Given the description of an element on the screen output the (x, y) to click on. 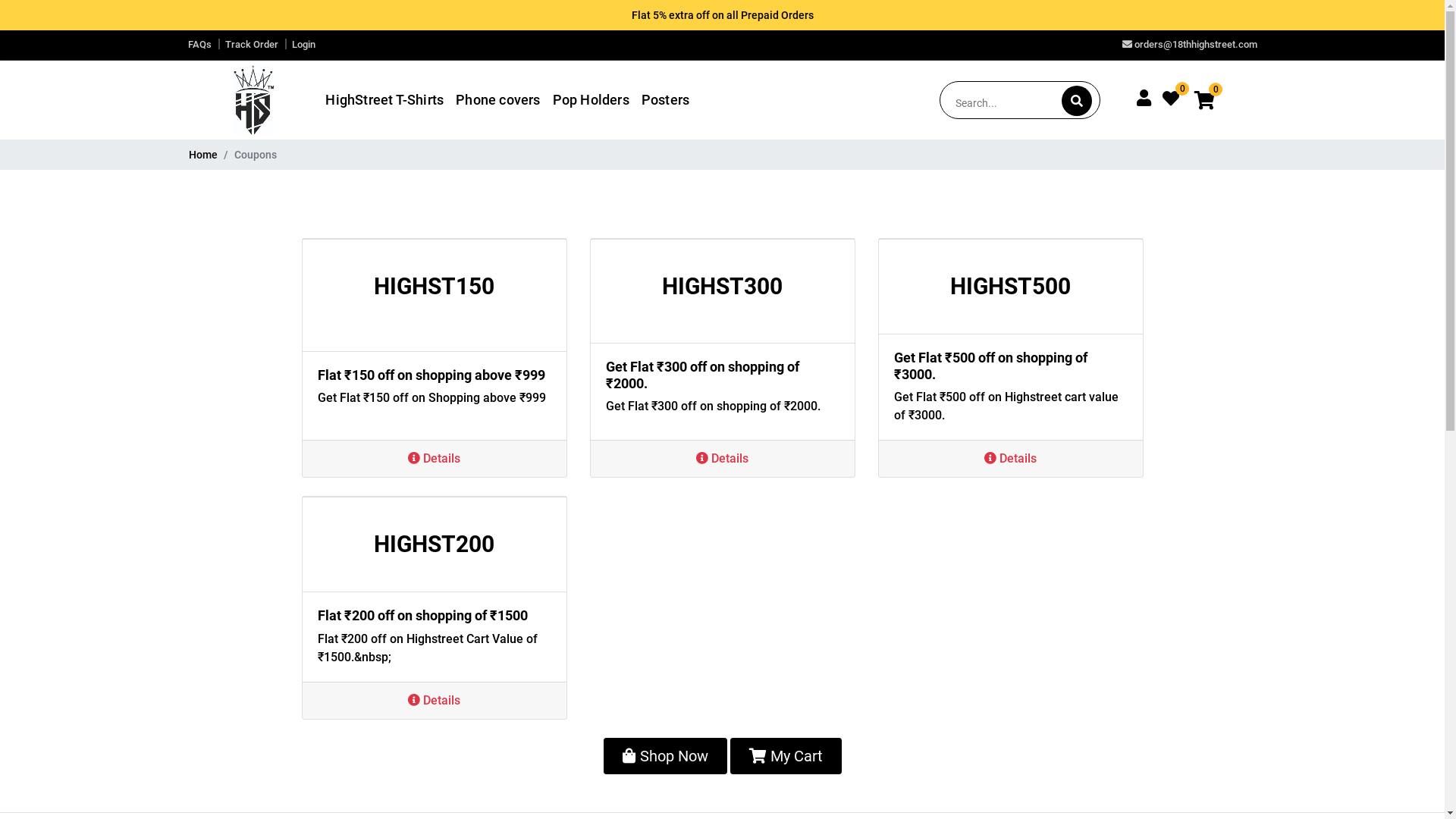
orders@18thhighstreet.com Element type: text (1189, 44)
Shop Now Element type: text (665, 755)
Phone covers Element type: text (497, 99)
Pop Holders Element type: text (590, 99)
My Cart Element type: text (784, 755)
Posters Element type: text (665, 99)
Login Element type: text (302, 44)
Home Element type: text (202, 154)
Track Order Element type: text (250, 44)
HighStreet T-Shirts Element type: text (384, 99)
FAQs Element type: text (199, 44)
